Given the description of an element on the screen output the (x, y) to click on. 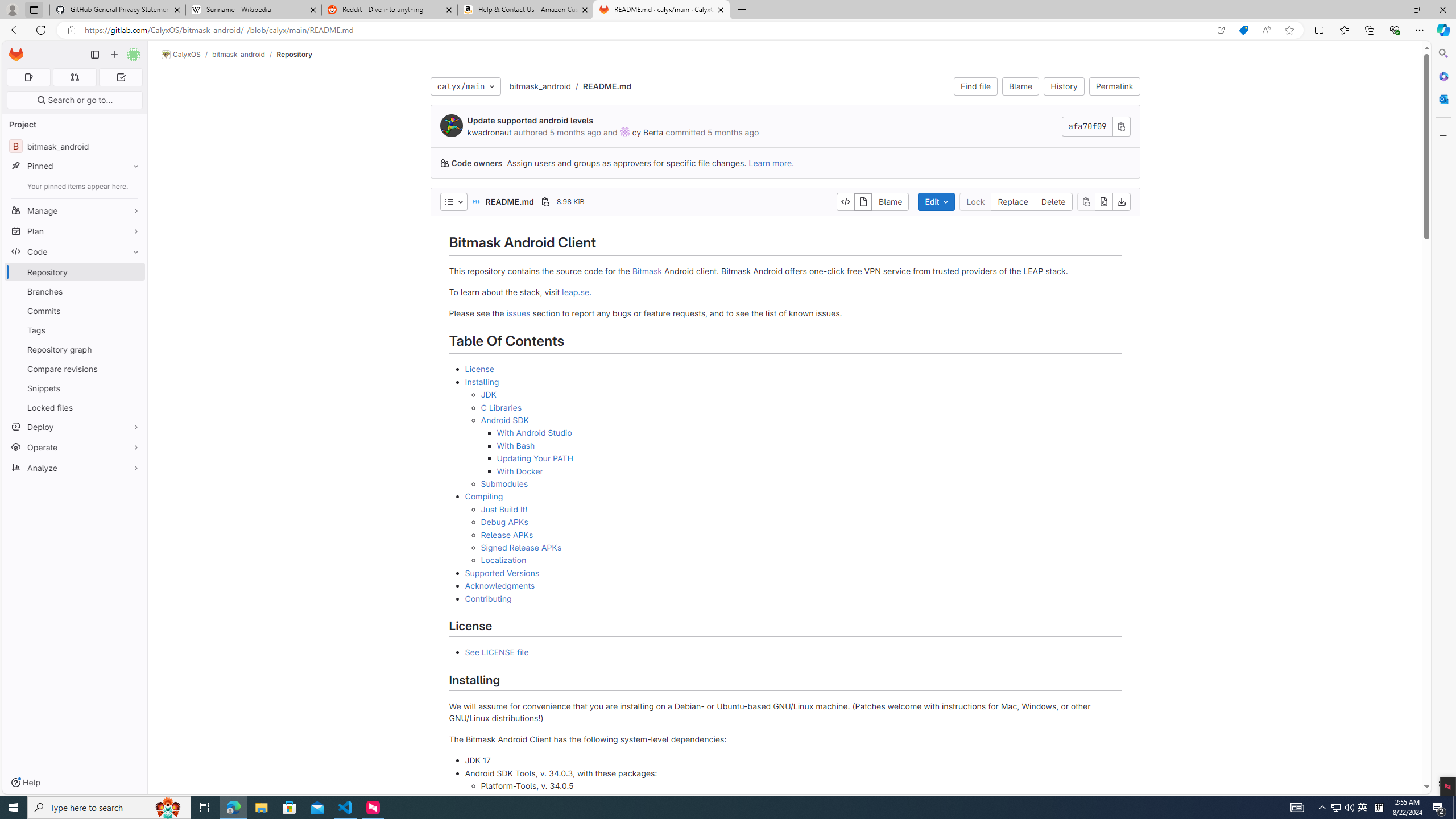
kwadronaut's avatar (451, 125)
Copy file contents (1084, 201)
Submodules (800, 483)
With Android Studio (808, 432)
Primary navigation sidebar (94, 54)
See LICENSE file (496, 652)
Compiling (483, 496)
With Android Studio (534, 432)
B bitmask_android (74, 145)
